Given the description of an element on the screen output the (x, y) to click on. 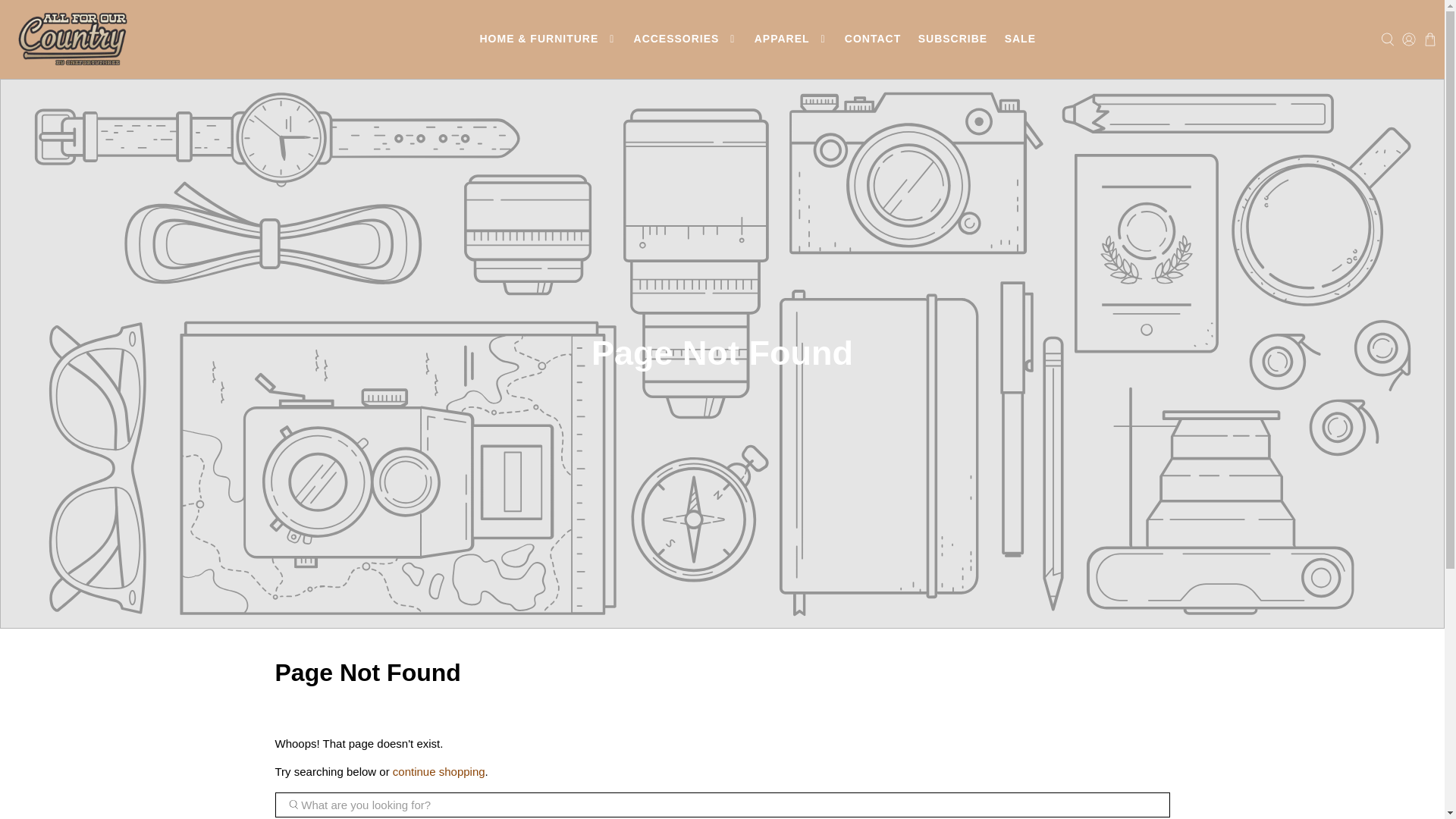
SUBSCRIBE (951, 38)
SALE (1019, 38)
APPAREL (790, 38)
All For Our Country (72, 39)
ACCESSORIES (684, 38)
CONTACT (872, 38)
